Given the description of an element on the screen output the (x, y) to click on. 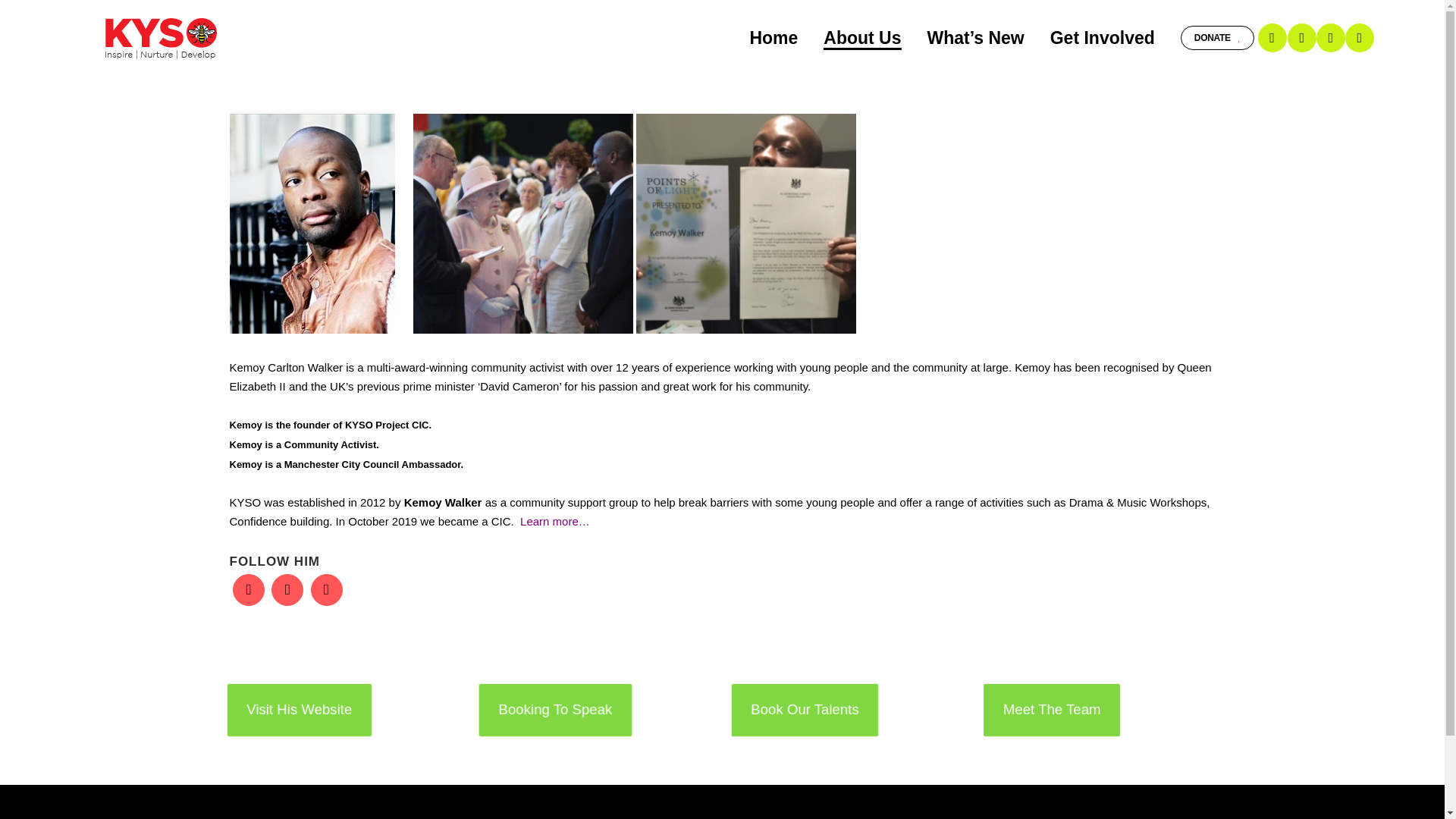
Meet The Team (1049, 708)
About Us (862, 38)
Visit His Website (296, 708)
Book Our Talents (801, 708)
Get Involved (1101, 38)
Home (773, 38)
DONATE (1217, 37)
Booking To Speak (553, 708)
